Given the description of an element on the screen output the (x, y) to click on. 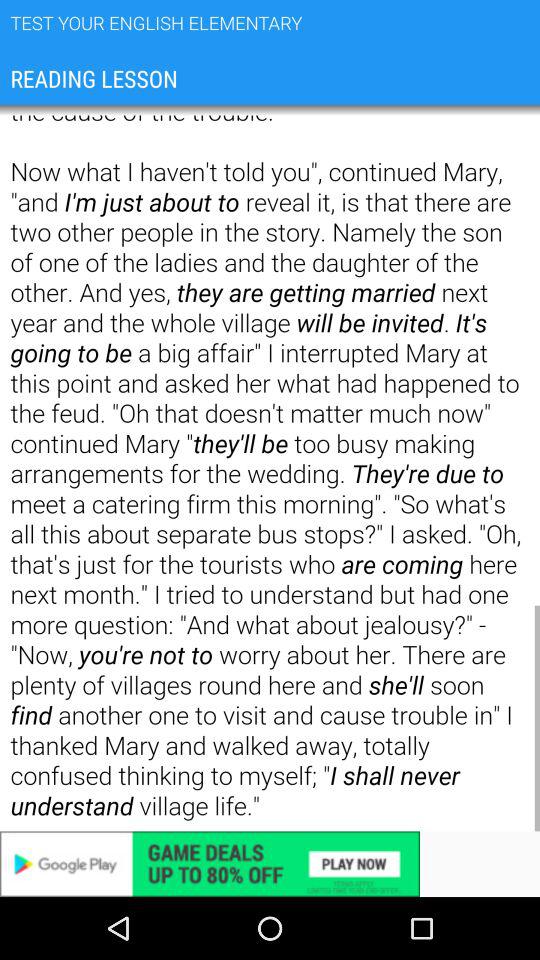
try this promotion (270, 864)
